Given the description of an element on the screen output the (x, y) to click on. 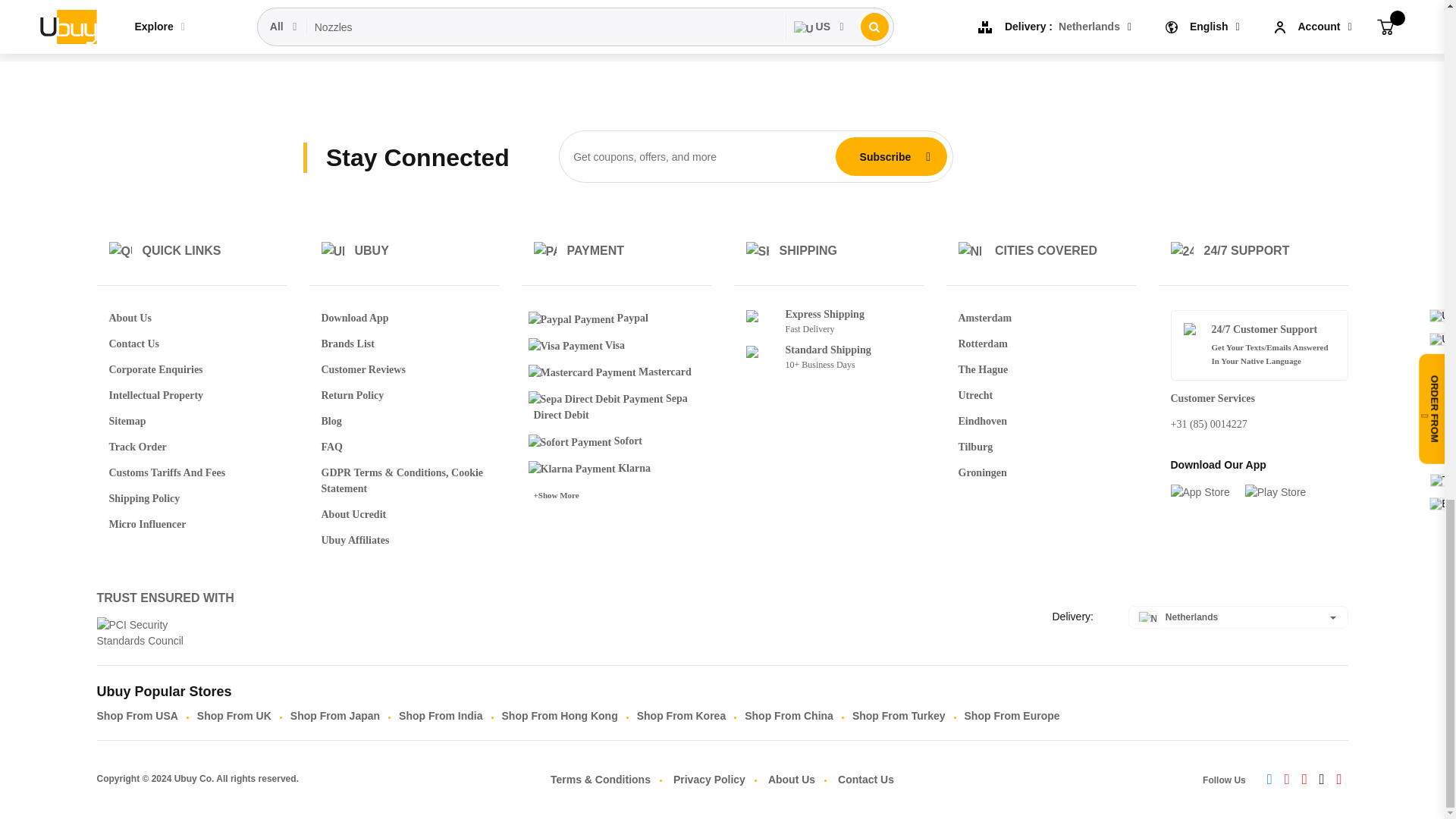
Subscribe (885, 156)
